Given the description of an element on the screen output the (x, y) to click on. 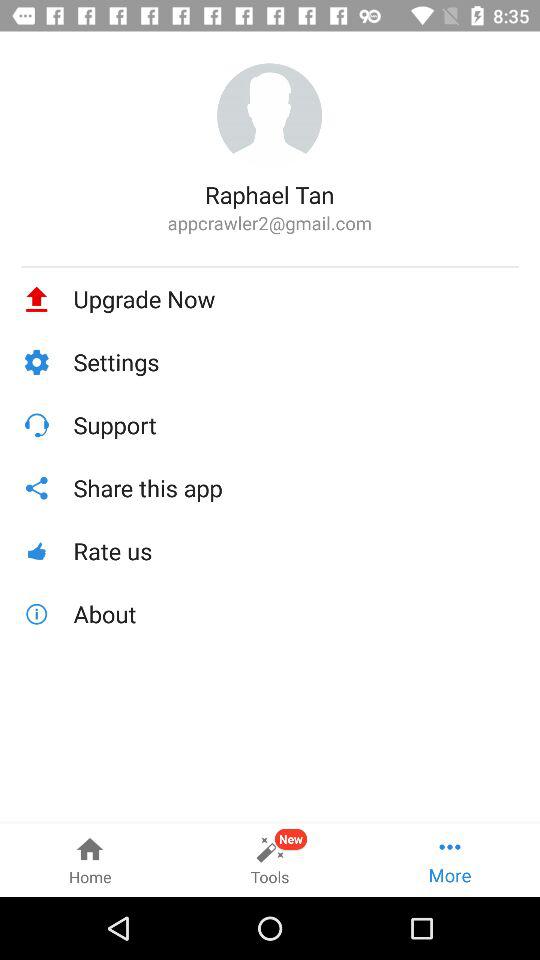
click share this app (296, 487)
